Given the description of an element on the screen output the (x, y) to click on. 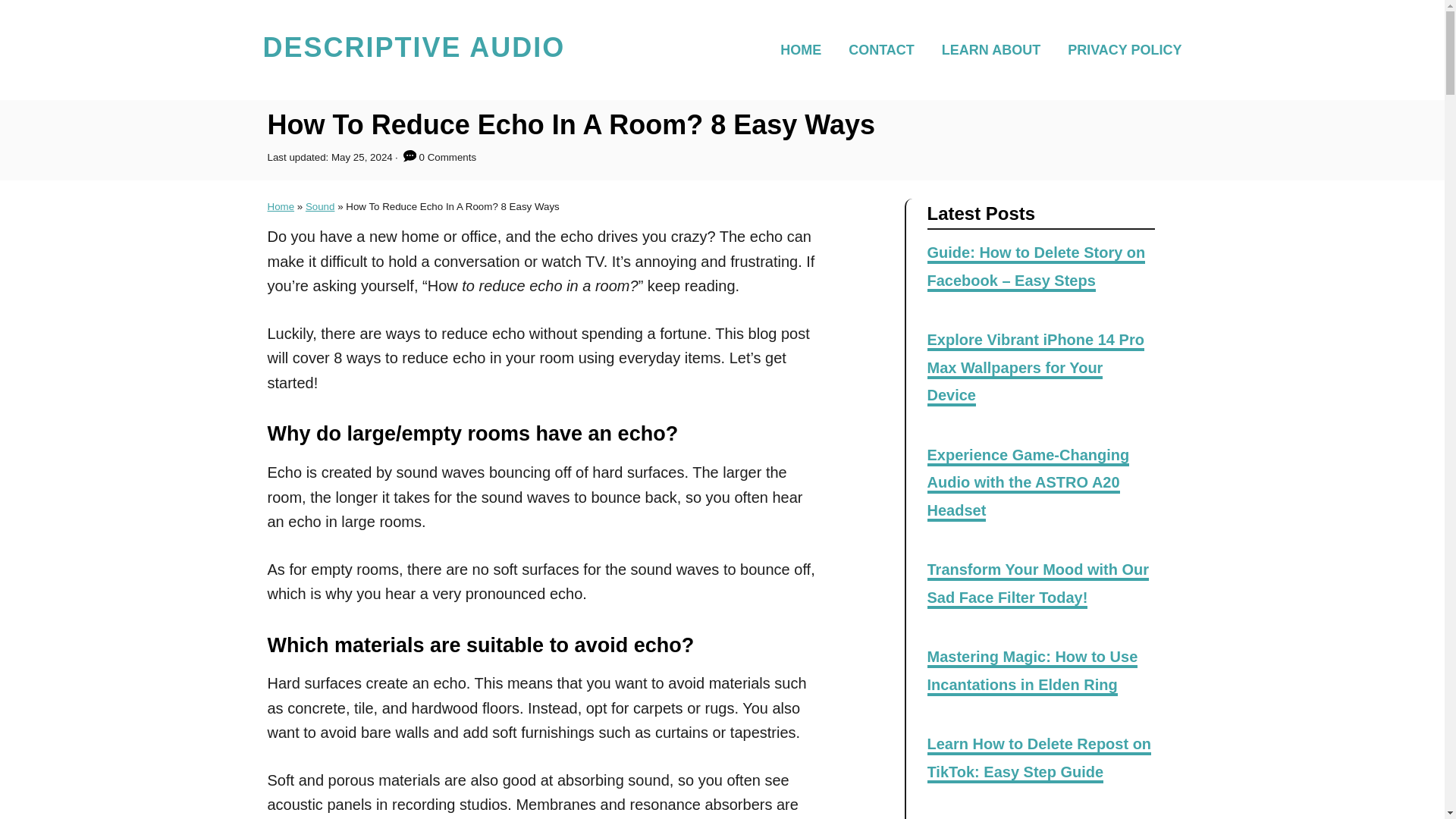
Experience Game-Changing Audio with the ASTRO A20 Headset (1027, 483)
DESCRIPTIVE AUDIO (413, 49)
CONTACT (886, 49)
Home (280, 206)
Learn How to Delete Repost on TikTok: Easy Step Guide (1038, 758)
PRIVACY POLICY (1119, 49)
Transform Your Mood with Our Sad Face Filter Today! (1037, 585)
Mastering Magic: How to Use Incantations in Elden Ring (1031, 672)
HOME (805, 49)
Descriptive Audio (413, 49)
Explore Vibrant iPhone 14 Pro Max Wallpapers for Your Device (1034, 368)
LEARN ABOUT (995, 49)
Sound (319, 206)
